Given the description of an element on the screen output the (x, y) to click on. 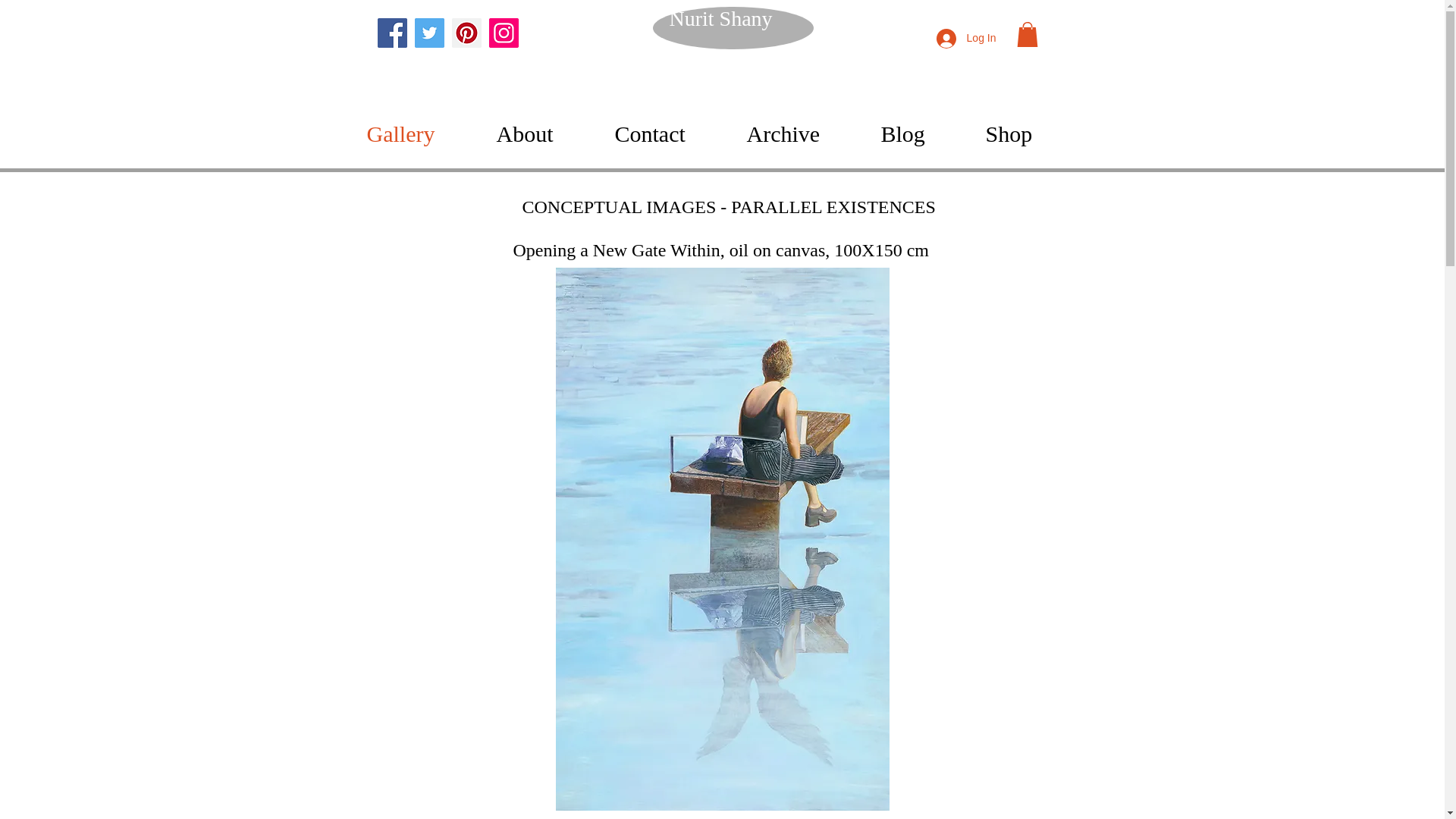
Nurit Shany (519, 74)
Contact (672, 134)
Gallery (424, 134)
About (547, 134)
Log In (966, 38)
Archive (805, 134)
